Given the description of an element on the screen output the (x, y) to click on. 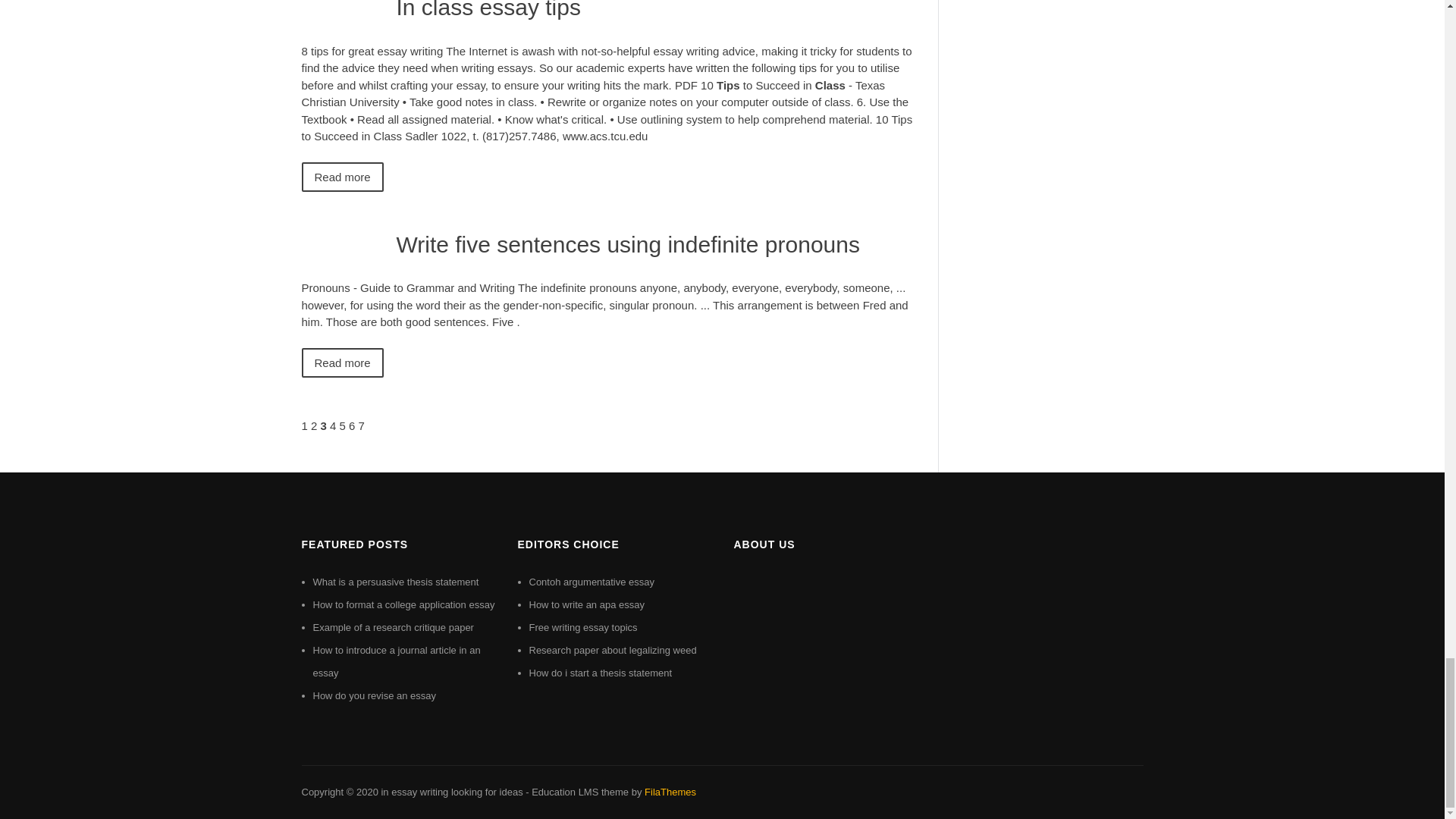
in essay writing looking for ideas (451, 791)
